Given the description of an element on the screen output the (x, y) to click on. 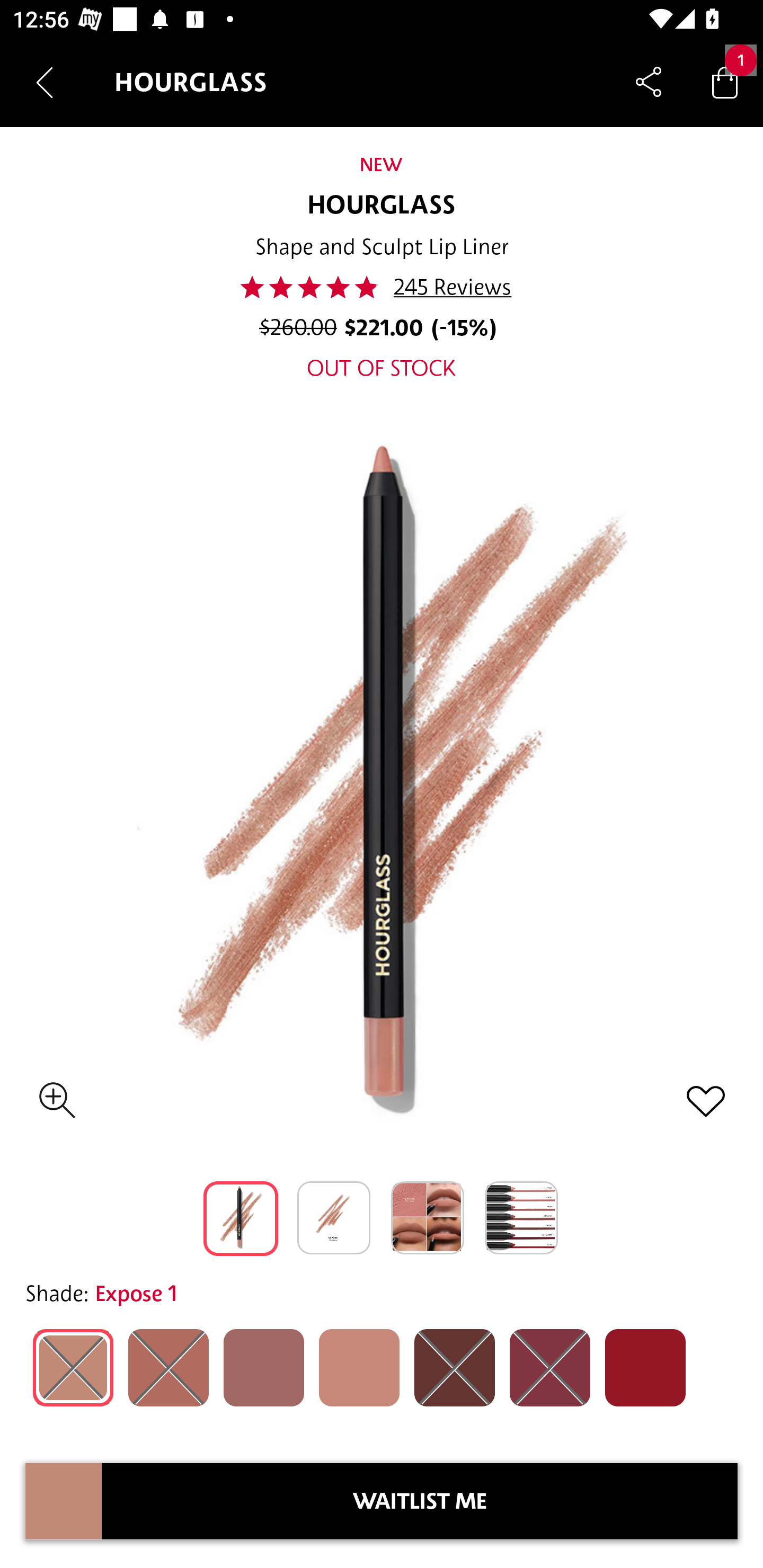
Navigate up (44, 82)
Share (648, 81)
Bag (724, 81)
HOURGLASS (381, 205)
48.0 245 Reviews (381, 286)
WAITLIST ME (419, 1500)
